Given the description of an element on the screen output the (x, y) to click on. 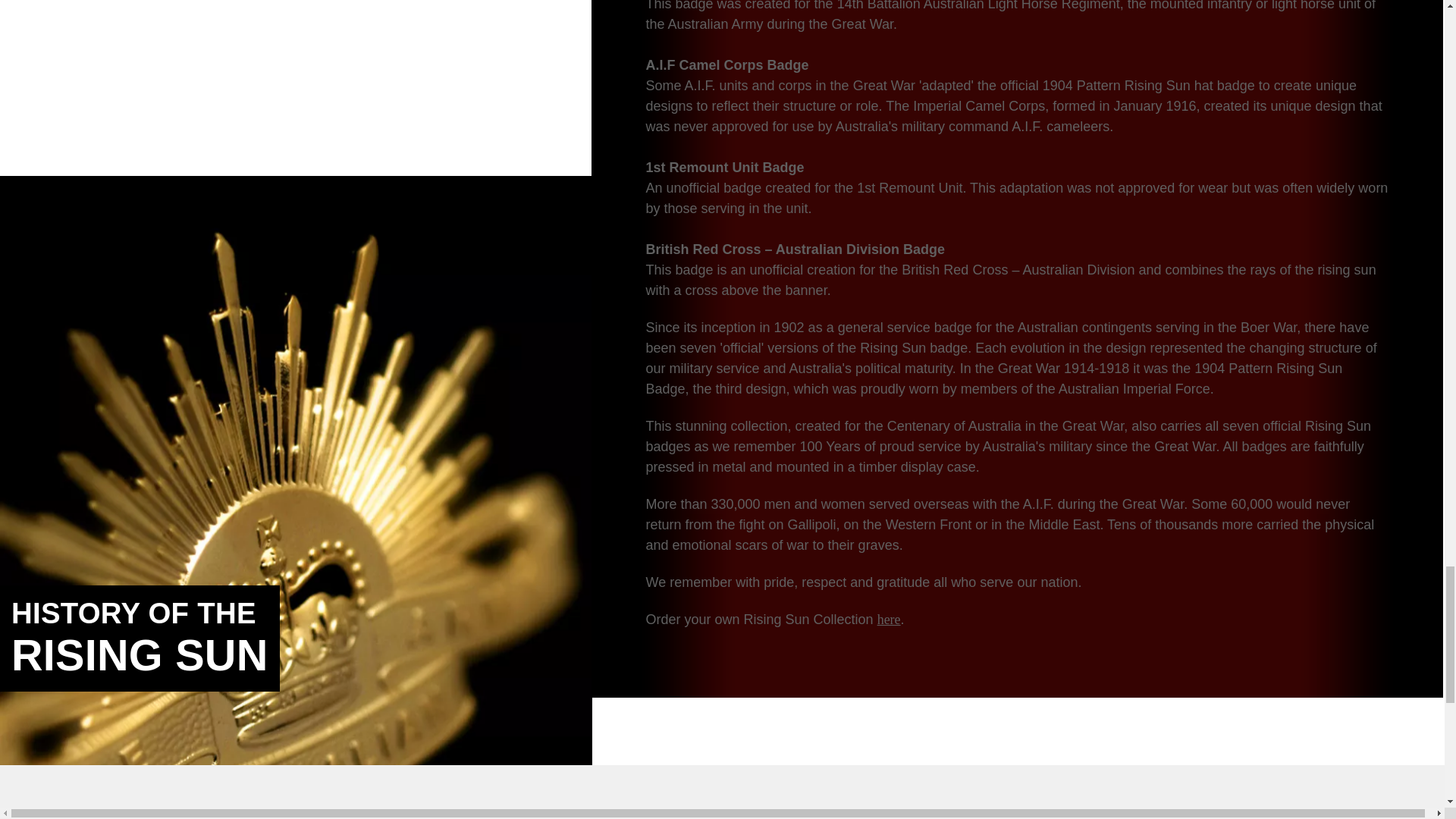
Military Shop (1055, 817)
